Given the description of an element on the screen output the (x, y) to click on. 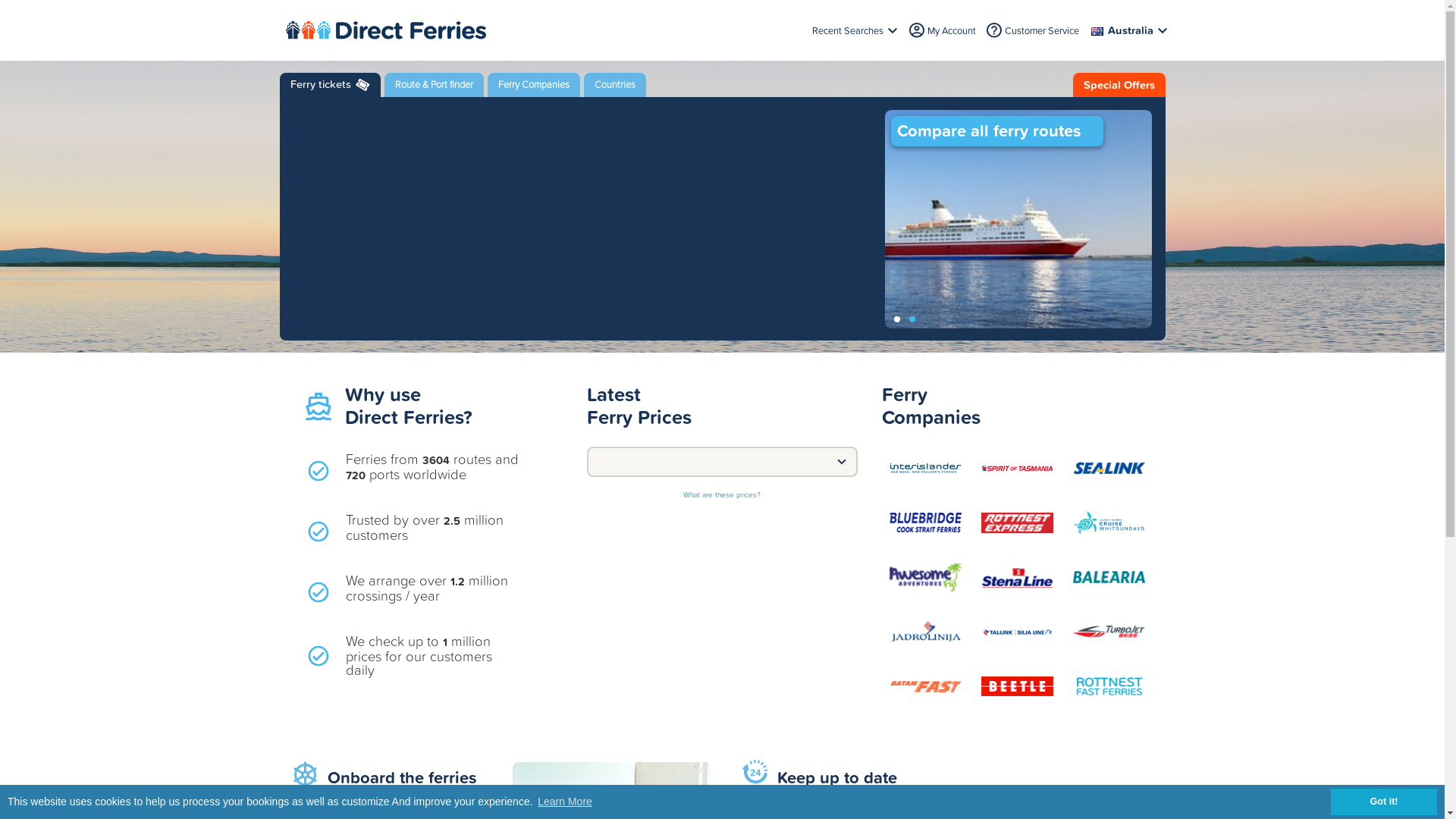
Countries Element type: text (614, 84)
Route & Port finder Element type: text (433, 84)
Special Offers Element type: text (1118, 84)
What are these prices? Element type: text (721, 492)
Customer Service Element type: text (1041, 30)
Learn More Element type: text (564, 801)
Ferry tickets Element type: text (329, 84)
Got it! Element type: text (1383, 801)
Recent Searches Element type: text (855, 30)
Ferry Companies Element type: text (532, 84)
Australia Element type: text (1128, 30)
My Account Element type: text (950, 30)
